Given the description of an element on the screen output the (x, y) to click on. 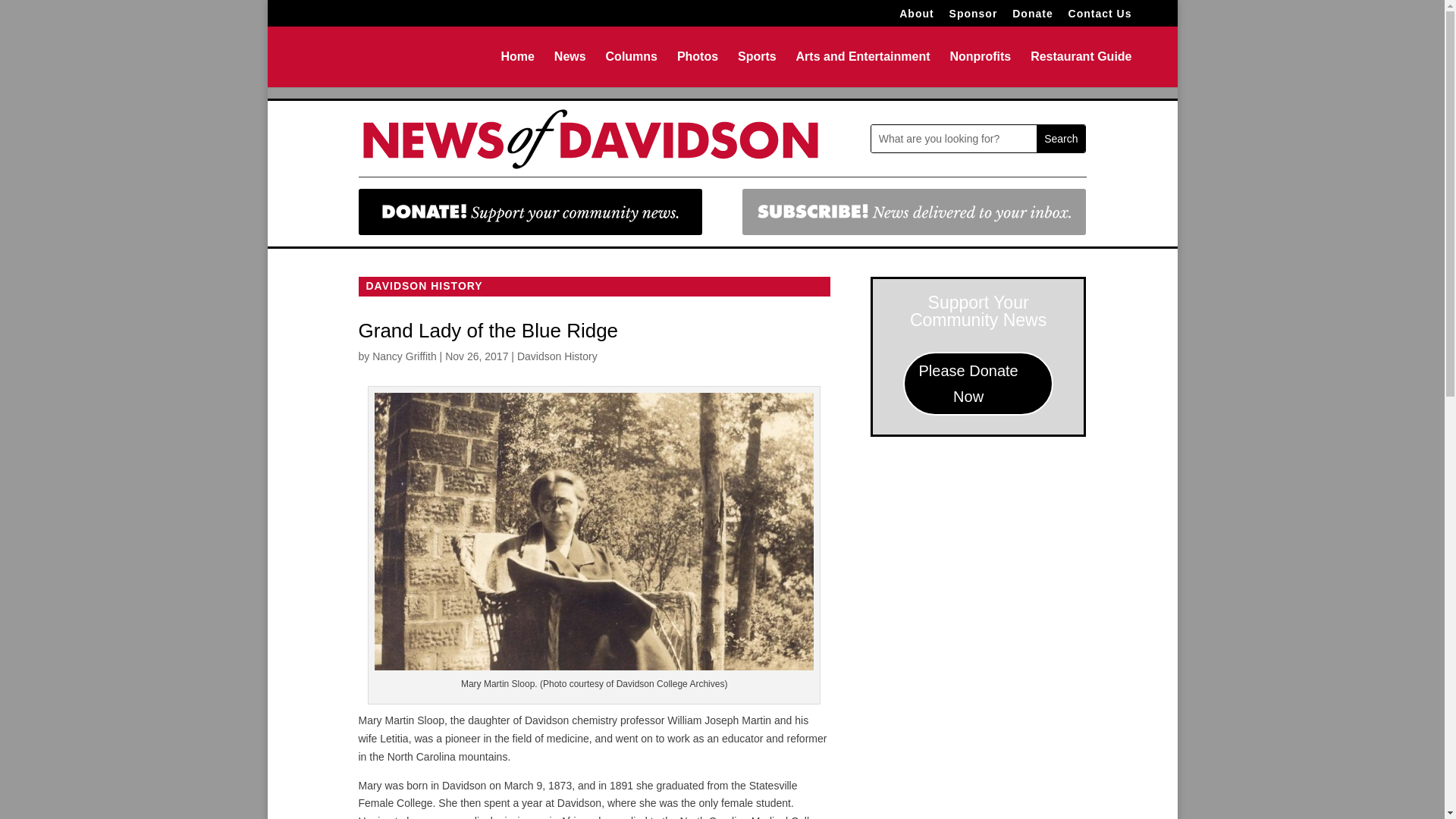
DonateButton-01 (529, 212)
Arts and Entertainment (863, 68)
About (916, 16)
Posts by Nancy Griffith (404, 356)
Sports (757, 68)
Restaurant Guide (1080, 68)
Home (517, 68)
Davidson History (556, 356)
Search (1060, 138)
News (570, 68)
Please Donate Now (978, 383)
Columns (631, 68)
Sponsor (973, 16)
Search (1060, 138)
Contact Us (1100, 16)
